Given the description of an element on the screen output the (x, y) to click on. 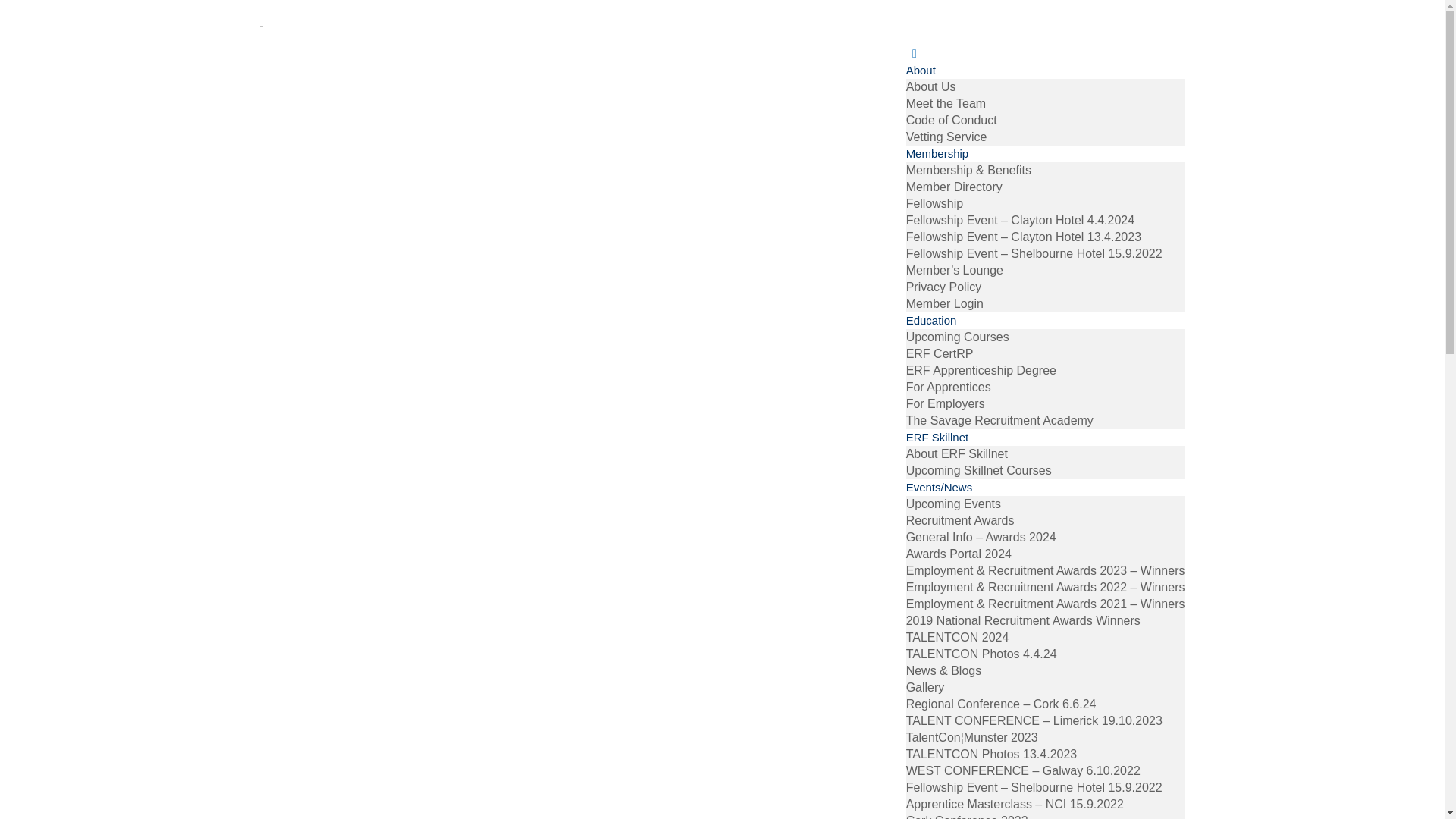
ERF Apprenticeship Degree (981, 369)
TALENTCON Photos 4.4.24 (981, 653)
Member Login (944, 303)
Awards Portal 2024 (958, 553)
About Us (930, 86)
Privacy Policy (943, 286)
Upcoming Skillnet Courses (978, 470)
ERF CertRP (939, 353)
The Savage Recruitment Academy (999, 420)
Fellowship (934, 203)
